Given the description of an element on the screen output the (x, y) to click on. 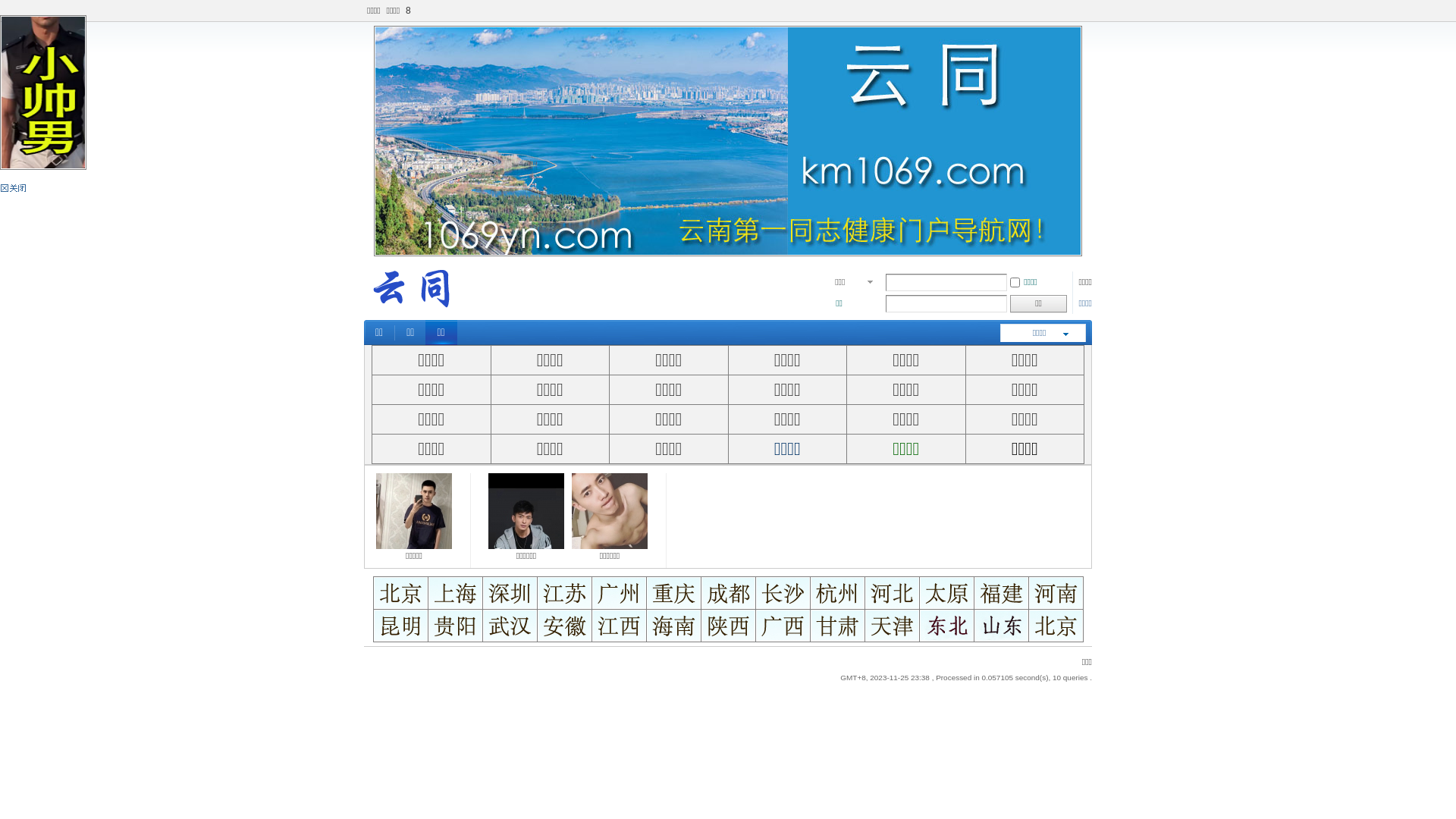
8 Element type: text (408, 10)
